Given the description of an element on the screen output the (x, y) to click on. 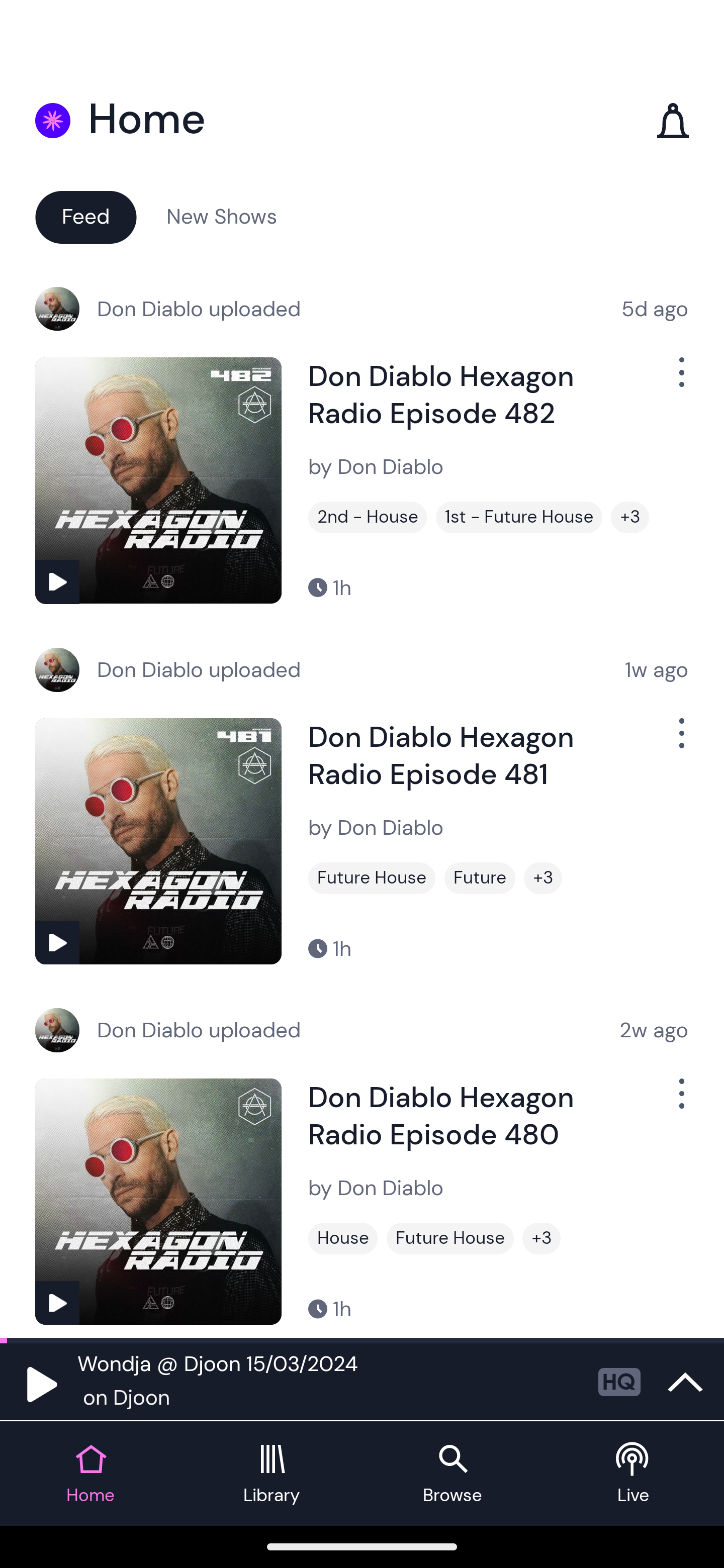
Feed (85, 216)
New Shows (221, 216)
Show Options Menu Button (679, 379)
2nd - House (367, 517)
1st - Future House (518, 517)
Show Options Menu Button (679, 740)
Future House (371, 877)
Future (479, 877)
Show Options Menu Button (679, 1101)
House (342, 1238)
Future House (450, 1238)
Home tab Home (90, 1473)
Library tab Library (271, 1473)
Browse tab Browse (452, 1473)
Live tab Live (633, 1473)
